Given the description of an element on the screen output the (x, y) to click on. 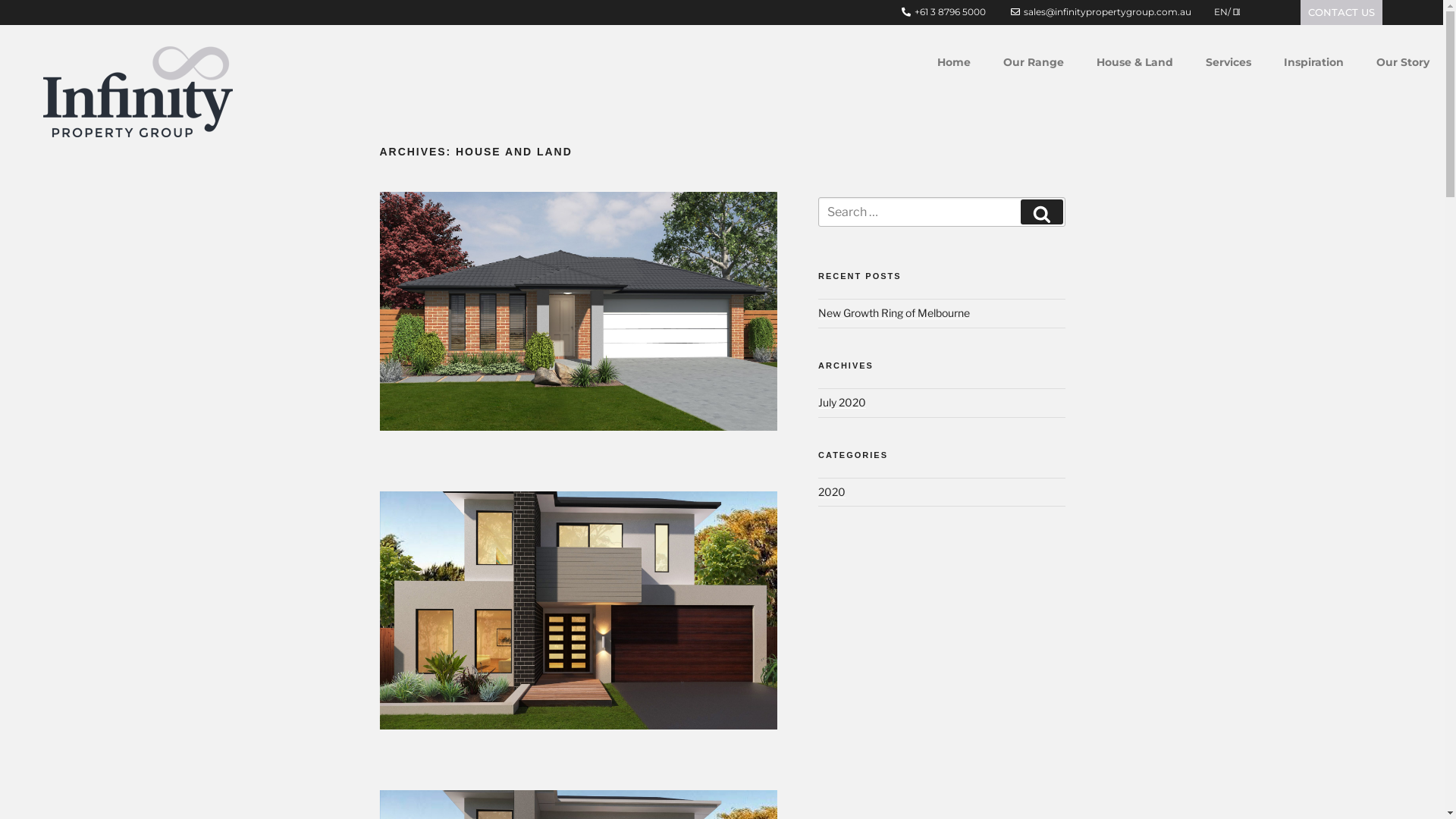
House & Land Element type: text (1134, 63)
Home Element type: text (953, 63)
Inspiration Element type: text (1313, 63)
July 2020 Element type: text (842, 401)
EN Element type: text (1220, 11)
CONTACT US Element type: text (1341, 12)
2020 Element type: text (831, 491)
Our Range Element type: text (1033, 63)
Our Story Element type: text (1402, 63)
Services Element type: text (1228, 63)
New Growth Ring of Melbourne Element type: text (893, 312)
